Given the description of an element on the screen output the (x, y) to click on. 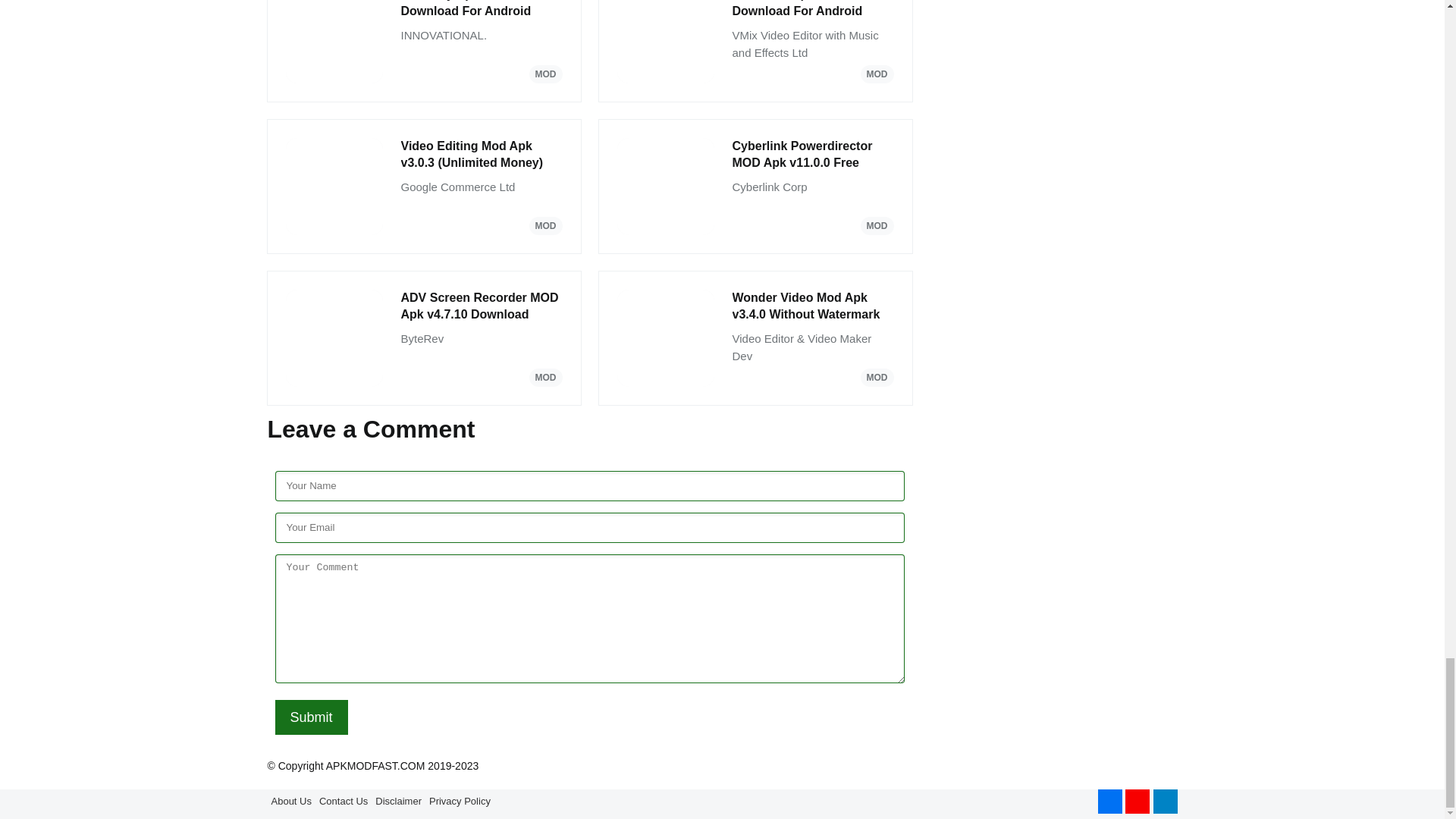
ADV Screen Recorder MOD Apk V4.7.10 Download (481, 306)
Wonder Video Mod Apk V3.4.0 Without Watermark (812, 306)
Cyberlink Powerdirector MOD Apk V11.0.0 Free Download (812, 154)
FacePlay Apk v3.1.8 Download For Android (481, 10)
Wonder Video Mod Apk v3.4.0 Without Watermark (812, 306)
Official Facebook Page of APKSAY.COM (1109, 801)
VMix Mod Apk v2.2.0 Download For Android (812, 10)
Cyberlink Powerdirector MOD Apk v11.0.0 Free Download (812, 154)
ADV Screen Recorder MOD Apk v4.7.10 Download (481, 306)
VMix Mod Apk V2.2.0 Download For Android (812, 10)
FacePlay Apk V3.1.8 Download For Android (481, 10)
